Given the description of an element on the screen output the (x, y) to click on. 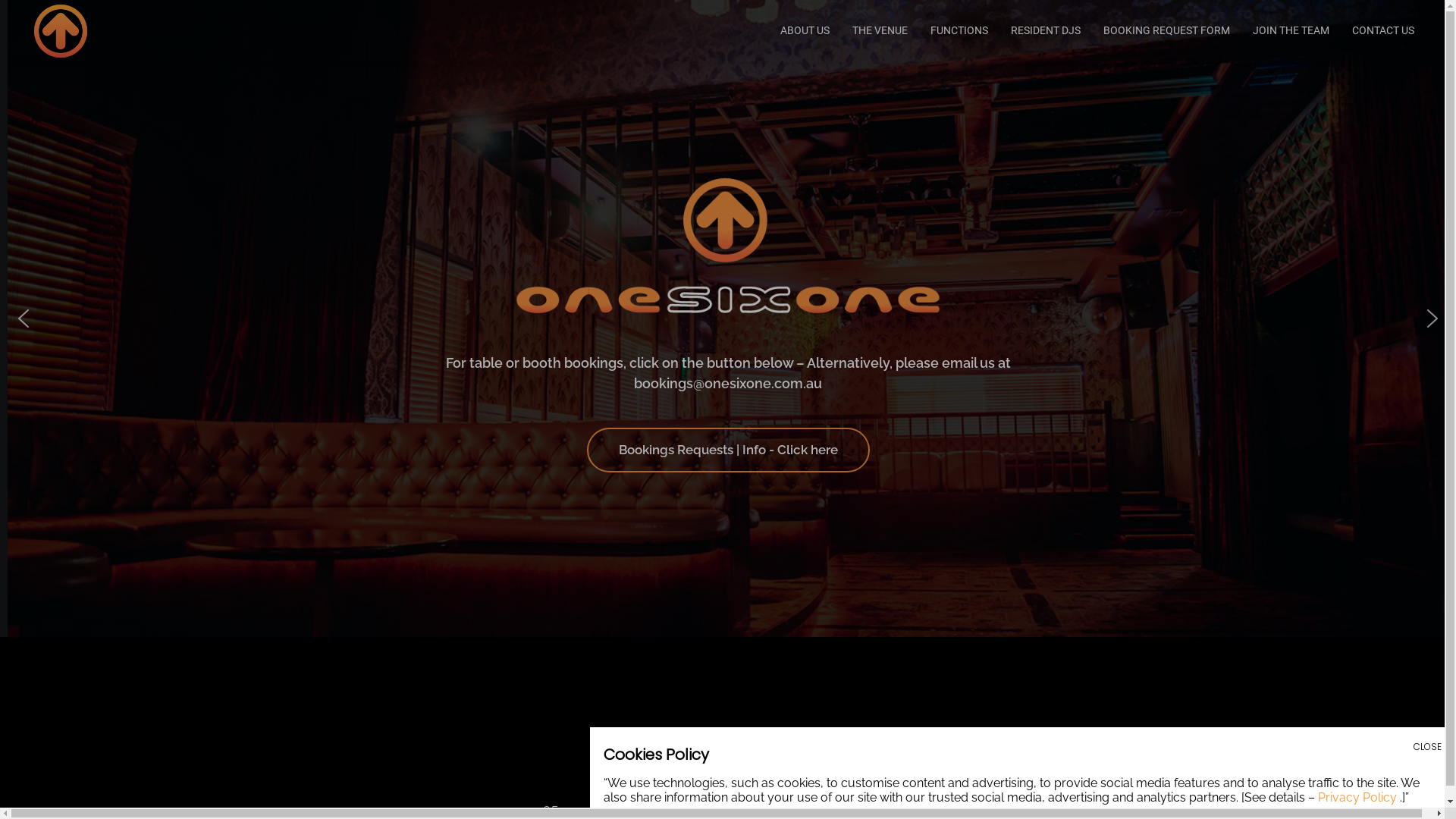
Bookings Requests | Info - Click here Element type: text (727, 450)
ABOUT US Element type: text (804, 30)
THE VENUE Element type: text (879, 30)
CLOSE Element type: text (1427, 746)
Privacy Policy Element type: text (1356, 797)
JOIN THE TEAM Element type: text (1290, 30)
RESIDENT DJS Element type: text (1045, 30)
BOOKING REQUEST FORM Element type: text (1166, 30)
CONTACT US Element type: text (1377, 30)
FUNCTIONS Element type: text (959, 30)
